Given the description of an element on the screen output the (x, y) to click on. 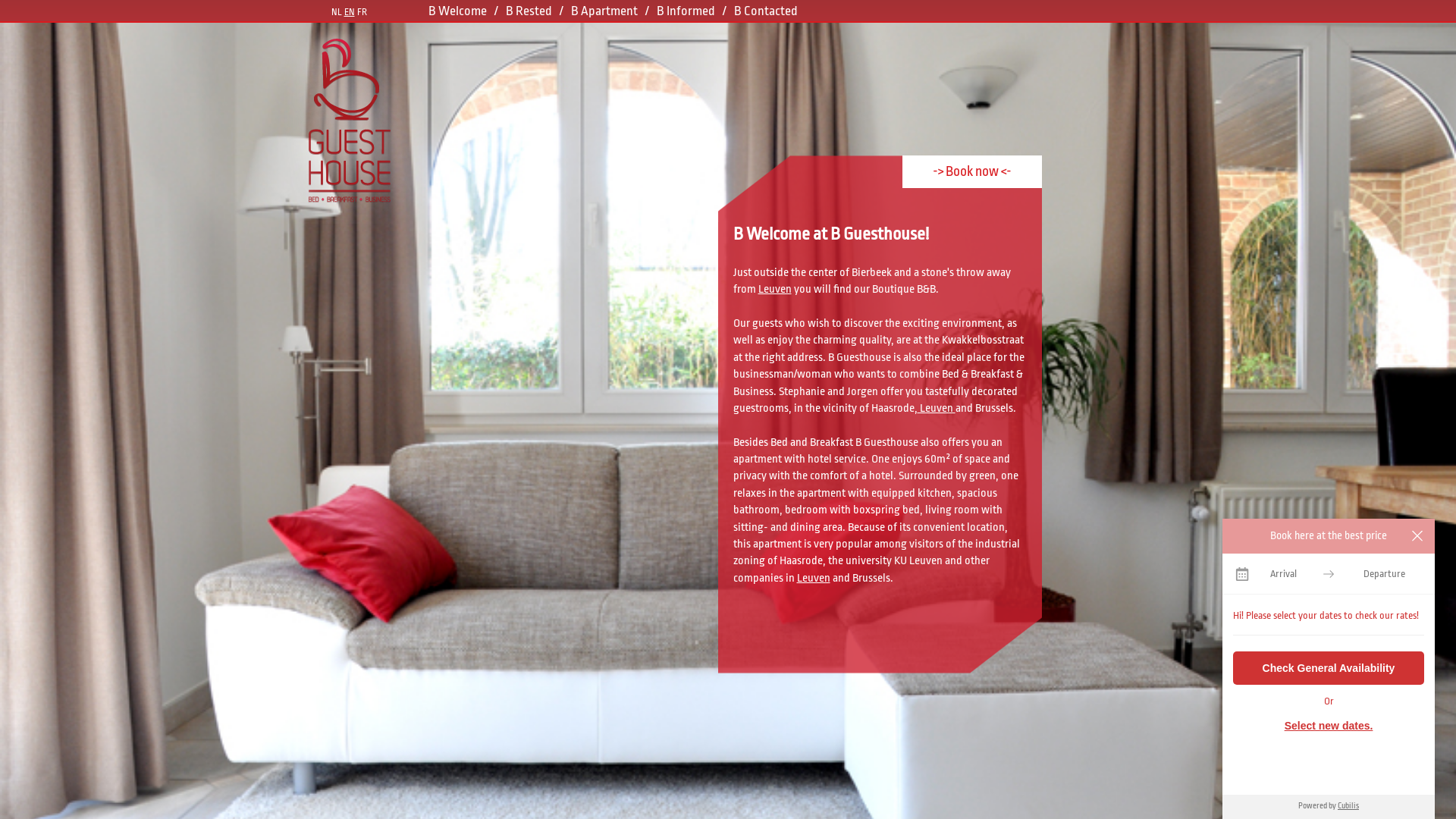
Leuven Element type: text (936, 407)
Select new dates. Element type: text (1328, 725)
B Welcome Element type: text (457, 11)
Cubilis Element type: text (1347, 805)
Check General Availability Element type: text (1328, 667)
Home Element type: hover (353, 122)
B Apartment Element type: text (604, 11)
FR Element type: text (361, 11)
-> Book now <- Element type: text (971, 171)
Leuven Element type: text (774, 288)
B Contacted Element type: text (765, 11)
Leuven Element type: text (812, 577)
EN Element type: text (349, 11)
Skip to main content Element type: text (47, 0)
NL Element type: text (335, 11)
